Given the description of an element on the screen output the (x, y) to click on. 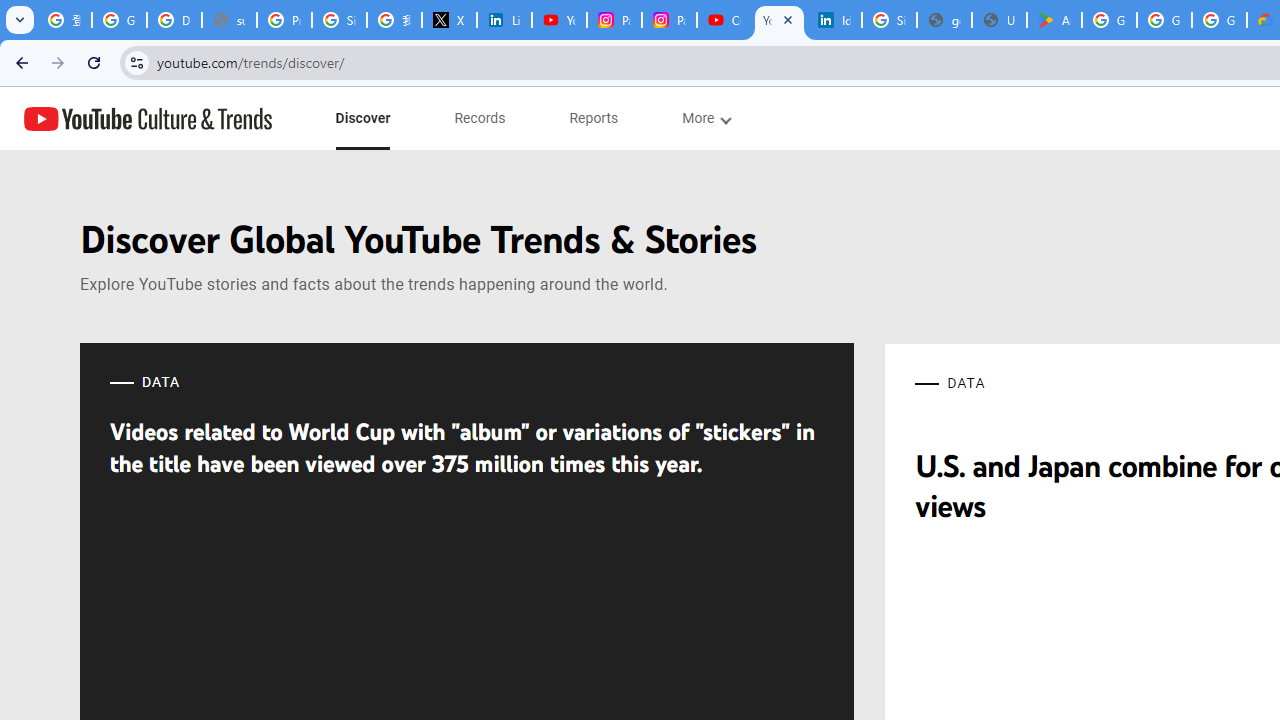
Privacy Help Center - Policies Help (284, 20)
subnav-Records menupopup (479, 118)
X (449, 20)
subnav-Discover menupopup (362, 118)
subnav-Discover menupopup (362, 118)
Google Workspace - Specific Terms (1163, 20)
LinkedIn Privacy Policy (504, 20)
support.google.com - Network error (229, 20)
